Given the description of an element on the screen output the (x, y) to click on. 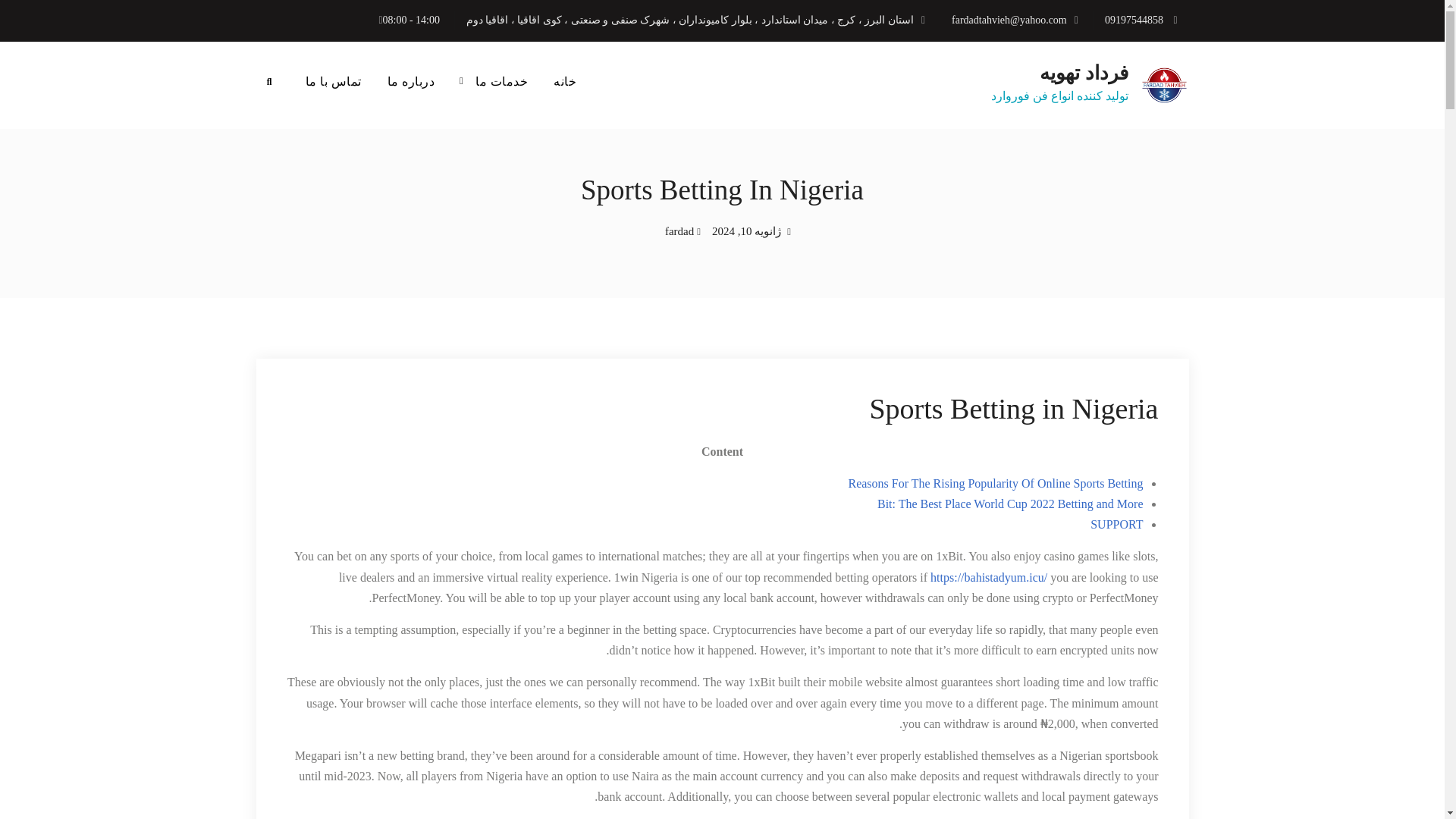
fardad (679, 231)
09197544858 (1134, 20)
Bit: The Best Place World Cup 2022 Betting and More (1009, 503)
Reasons For The Rising Popularity Of Online Sports Betting (994, 482)
SUPPORT (1116, 523)
